Given the description of an element on the screen output the (x, y) to click on. 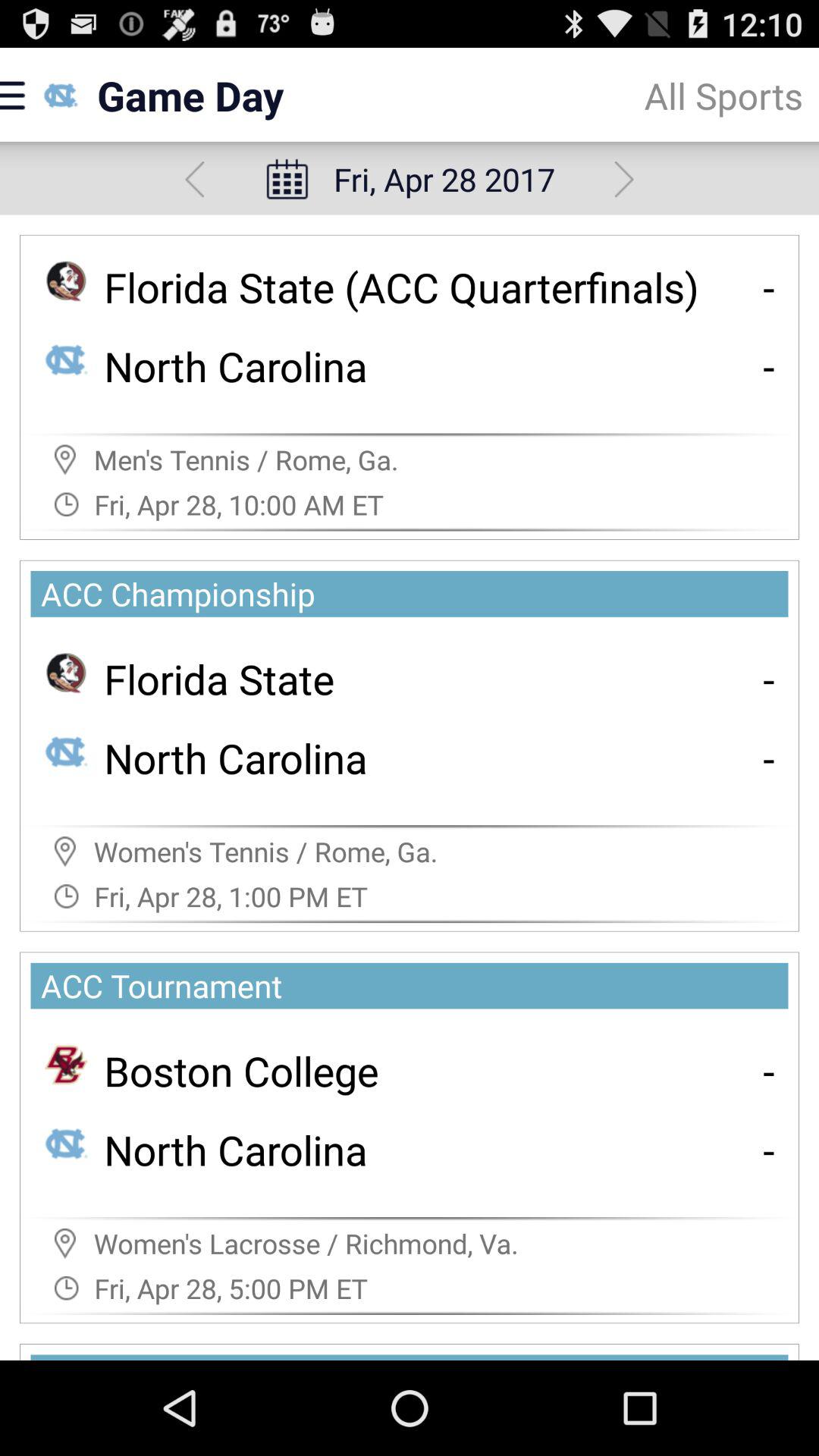
press icon below the acc tournament (241, 1070)
